Given the description of an element on the screen output the (x, y) to click on. 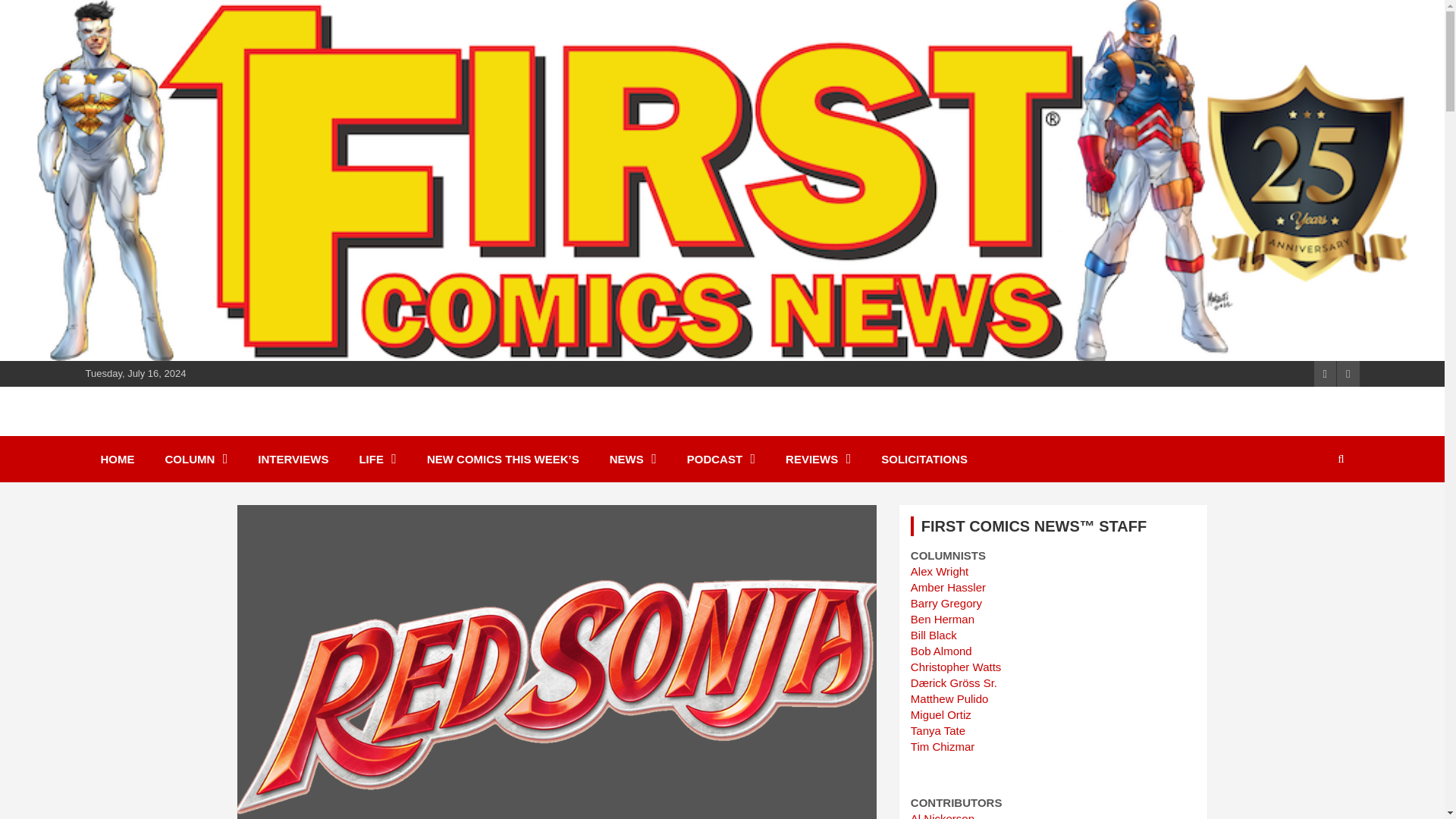
LIFE (377, 458)
HOME (116, 458)
PODCAST (720, 458)
INTERVIEWS (293, 458)
First Comics News (220, 428)
NEWS (632, 458)
REVIEWS (818, 458)
COLUMN (196, 458)
